Given the description of an element on the screen output the (x, y) to click on. 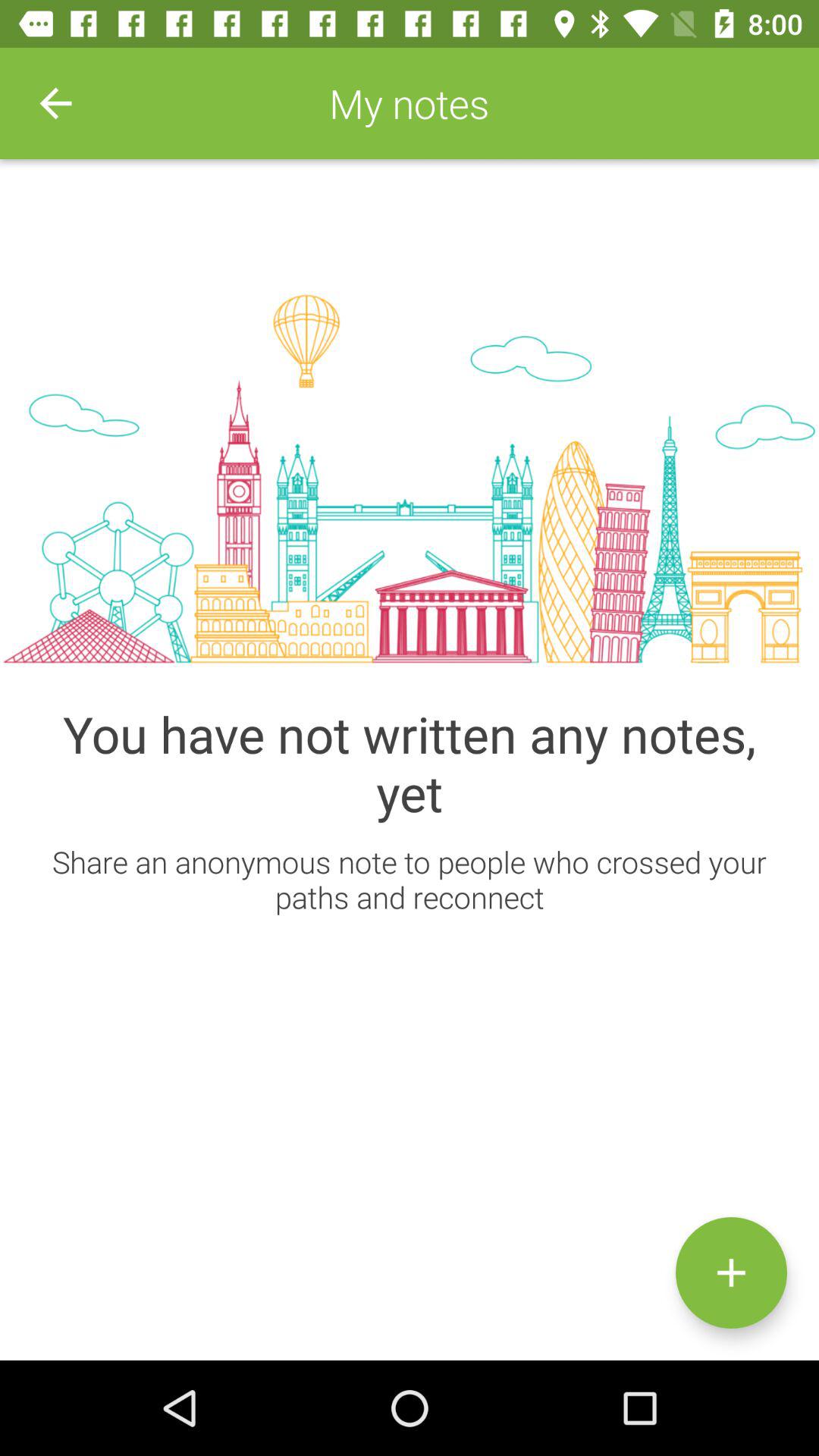
launch icon next to my notes icon (55, 103)
